Given the description of an element on the screen output the (x, y) to click on. 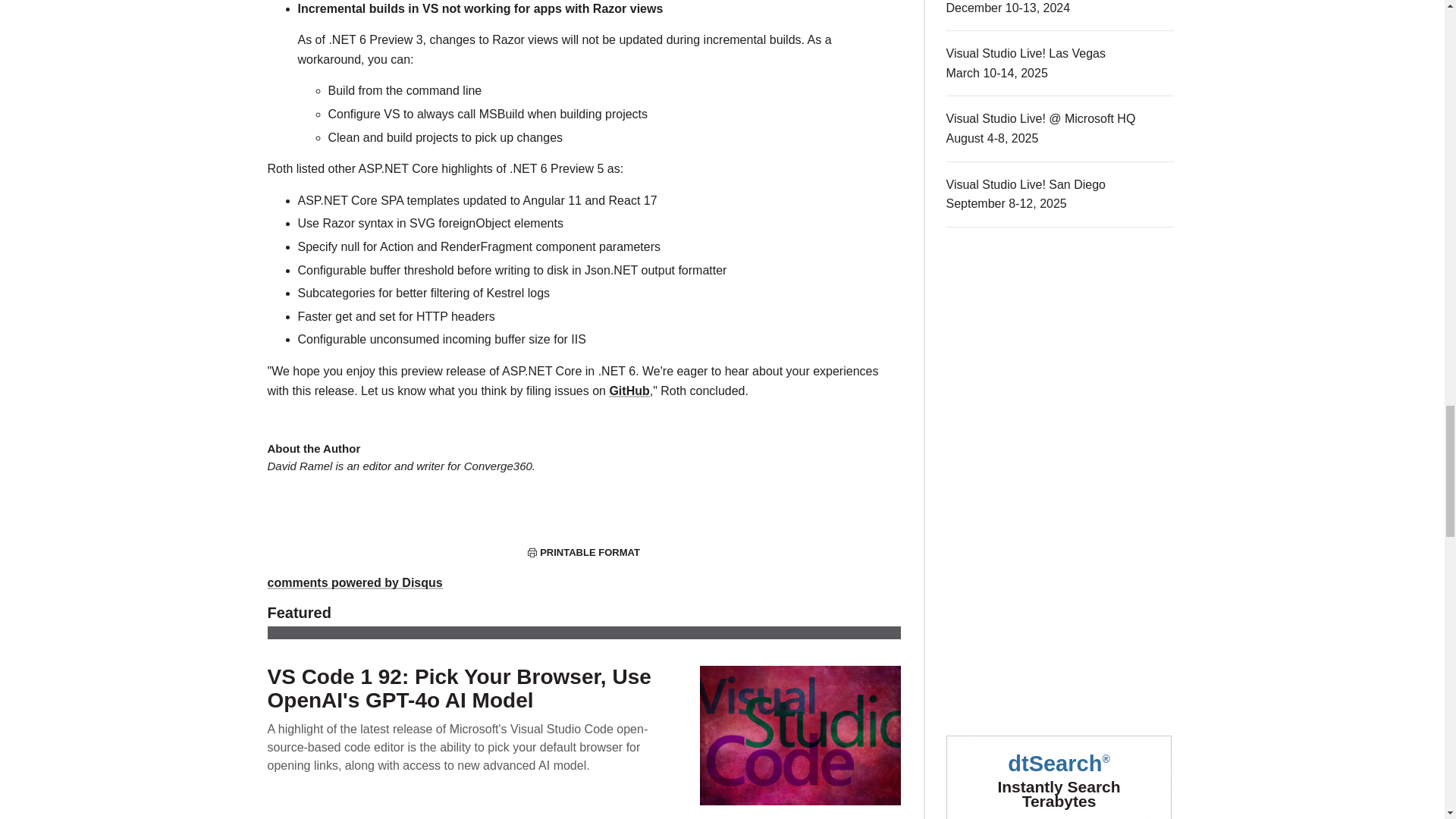
3rd party ad content (1059, 587)
3rd party ad content (1059, 769)
3rd party ad content (1059, 360)
